Given the description of an element on the screen output the (x, y) to click on. 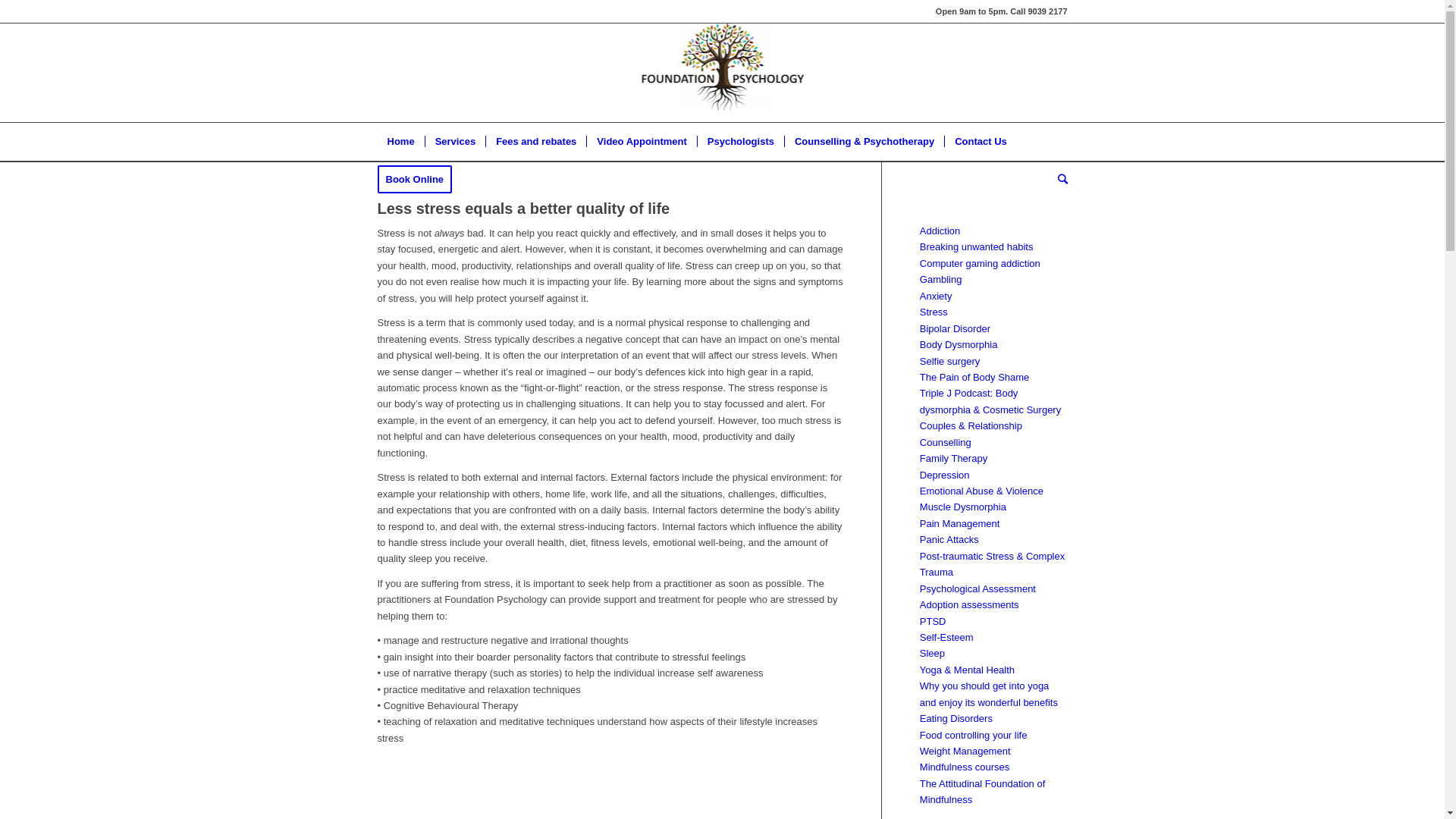
Post-traumatic Stress & Complex Trauma Element type: text (991, 563)
Self-Esteem Element type: text (946, 637)
Services Element type: text (455, 141)
Family Therapy Element type: text (953, 458)
Stress Element type: text (933, 311)
Anxiety Element type: text (935, 295)
Sleep Element type: text (931, 652)
Psychological Assessment Element type: text (977, 588)
Adoption assessments Element type: text (969, 604)
Breaking unwanted habits Element type: text (976, 246)
Psychologists Element type: text (740, 141)
Home Element type: text (400, 141)
Fees and rebates Element type: text (535, 141)
Muscle Dysmorphia Element type: text (962, 506)
Body Dysmorphia Element type: text (958, 344)
Triple J Podcast: Body dysmorphia & Cosmetic Surgery Element type: text (989, 400)
Yoga & Mental Health Element type: text (966, 669)
Book Online Element type: text (419, 179)
Counselling & Psychotherapy Element type: text (864, 141)
Mindfulness courses Element type: text (964, 766)
Selfie surgery Element type: text (949, 360)
PTSD Element type: text (932, 621)
Bipolar Disorder Element type: text (954, 328)
Pain Management Element type: text (959, 523)
Eating Disorders Element type: text (955, 718)
Depression Element type: text (944, 474)
Contact Us Element type: text (980, 141)
Computer gaming addiction Element type: text (979, 263)
Emotional Abuse & Violence Element type: text (981, 490)
Couples & Relationship Counselling Element type: text (970, 433)
Video Appointment Element type: text (641, 141)
The Attitudinal Foundation of Mindfulness   Element type: text (982, 791)
Gambling Element type: text (940, 279)
The Pain of Body Shame Element type: text (974, 376)
Addiction Element type: text (939, 230)
Food controlling your life Element type: text (973, 734)
Panic Attacks Element type: text (949, 539)
Weight Management Element type: text (964, 750)
